Given the description of an element on the screen output the (x, y) to click on. 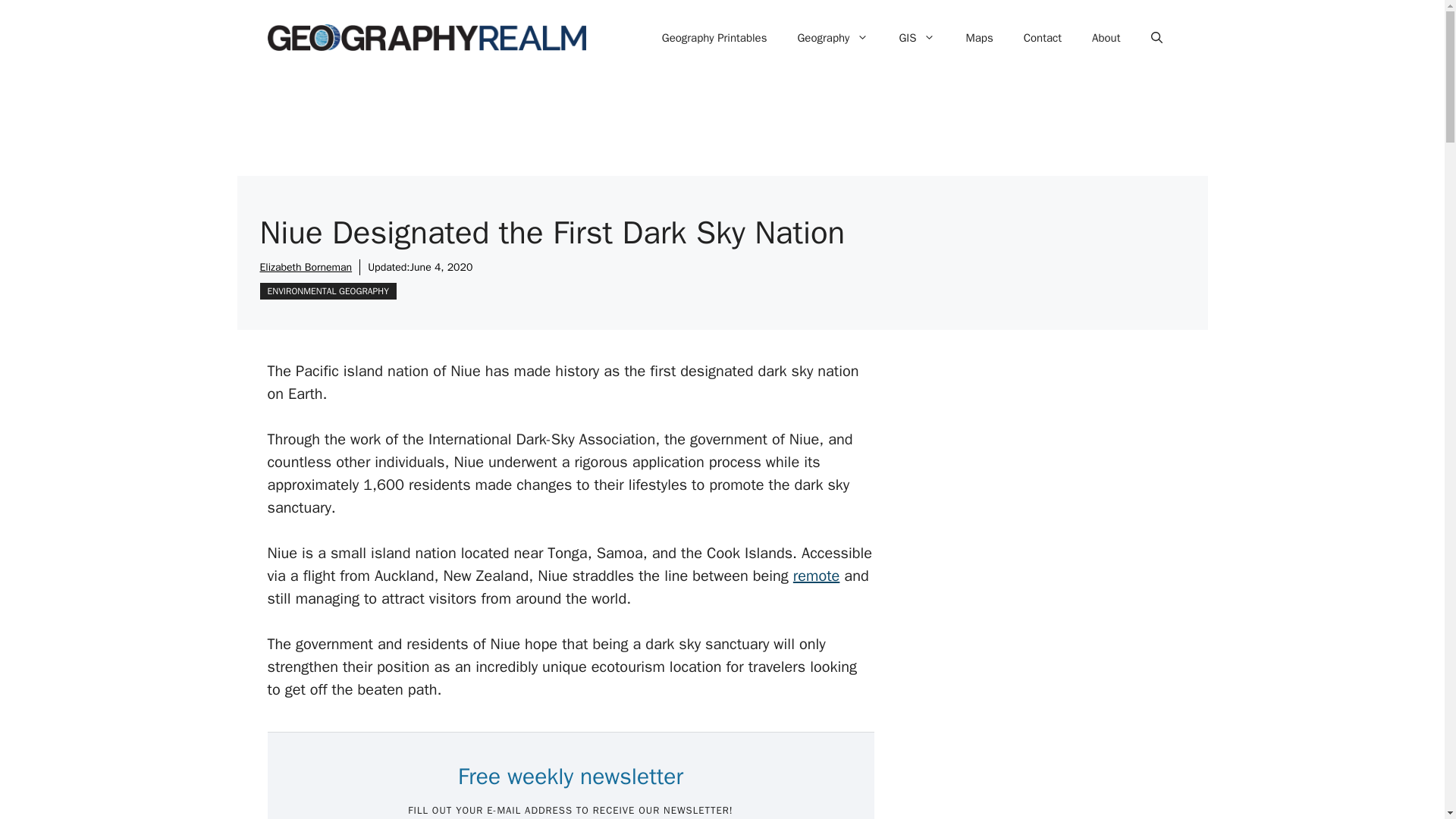
Elizabeth Borneman (305, 267)
Maps (978, 37)
Geography Printables (714, 37)
remote (816, 575)
GIS (916, 37)
Geography (832, 37)
About (1106, 37)
Contact (1043, 37)
ENVIRONMENTAL GEOGRAPHY (327, 290)
